Given the description of an element on the screen output the (x, y) to click on. 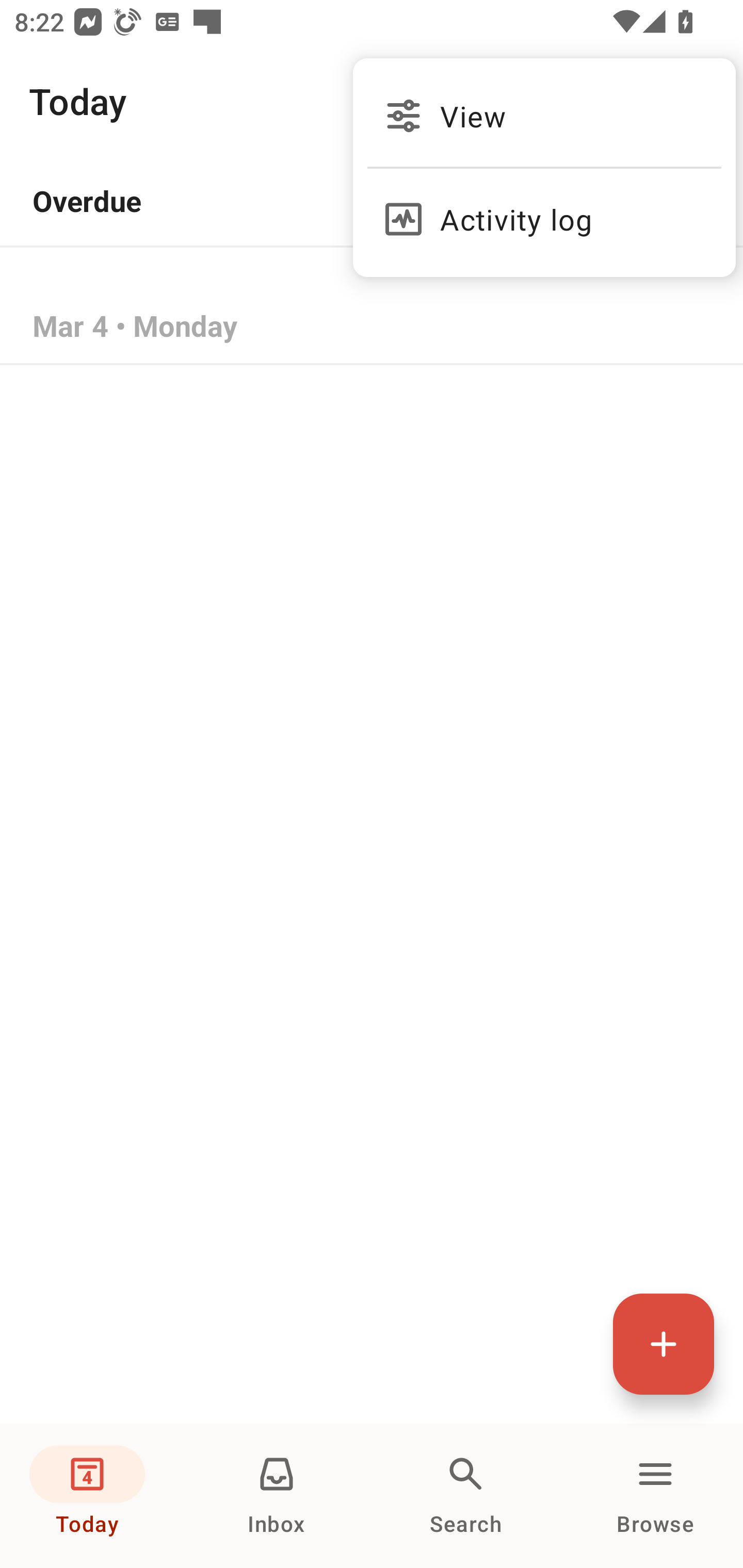
View (544, 115)
Activity log (544, 210)
